Given the description of an element on the screen output the (x, y) to click on. 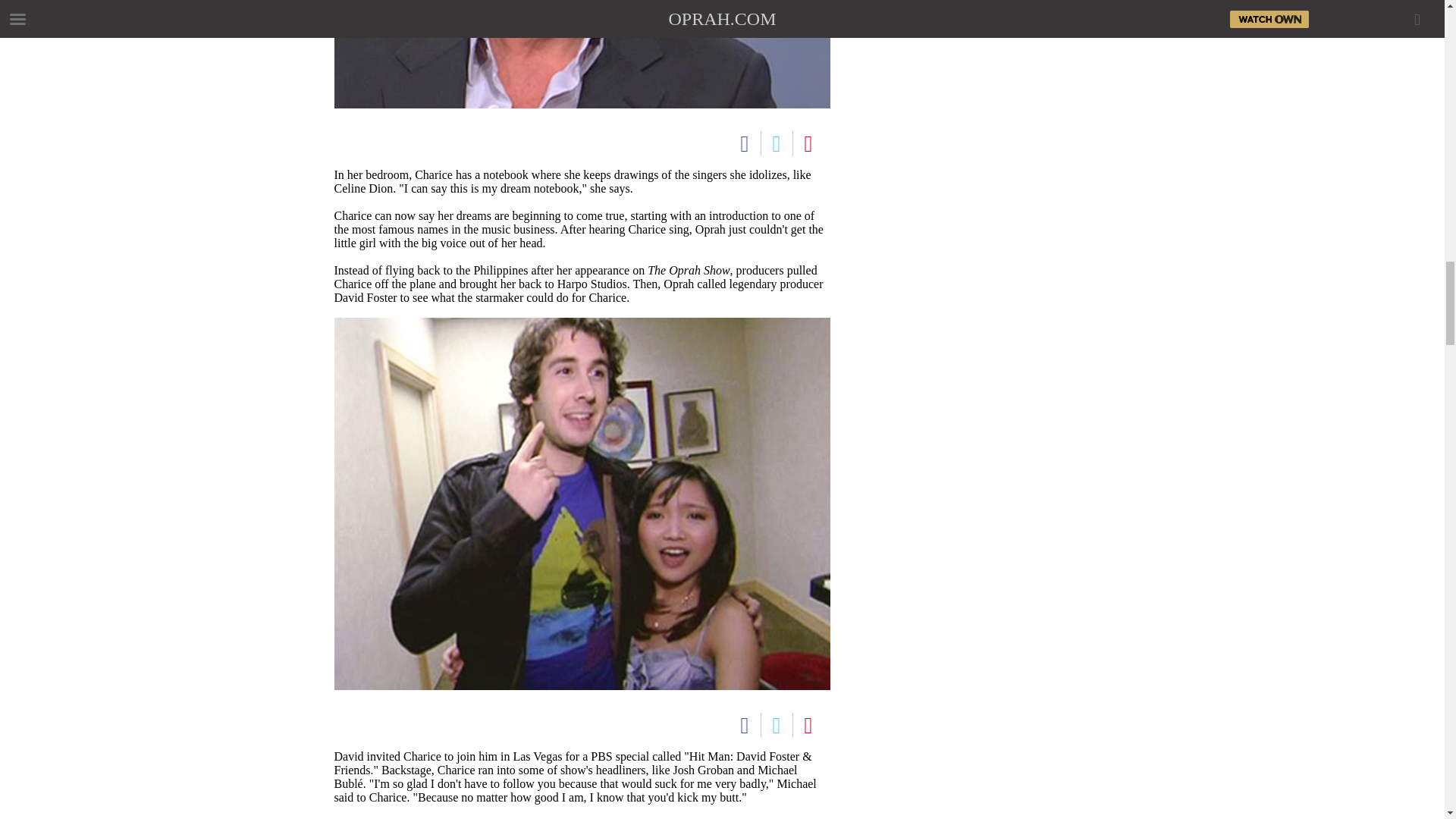
David Foster (581, 54)
